Given the description of an element on the screen output the (x, y) to click on. 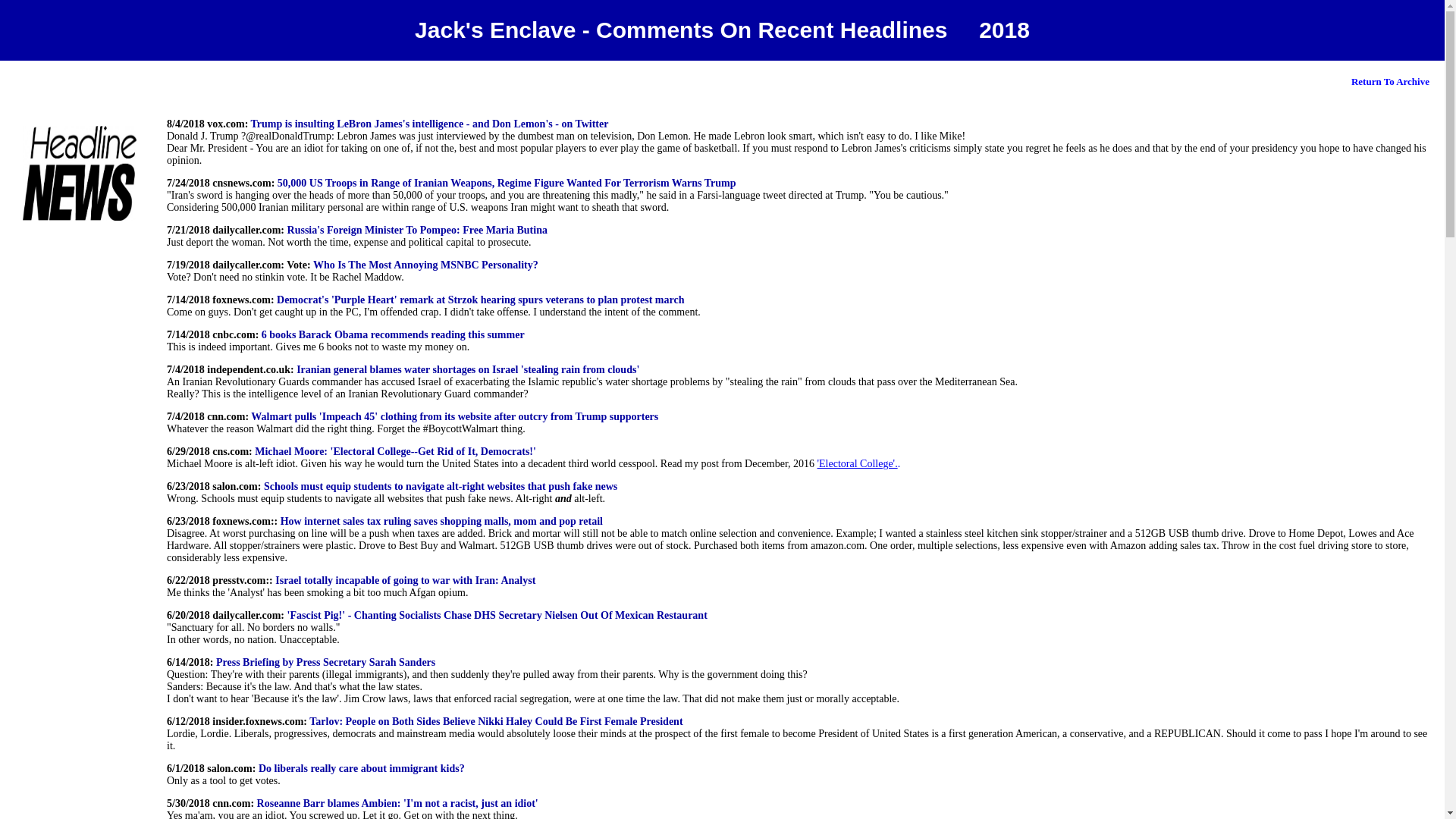
Return To Archive (1390, 80)
'Electoral College'.. (858, 463)
